Given the description of an element on the screen output the (x, y) to click on. 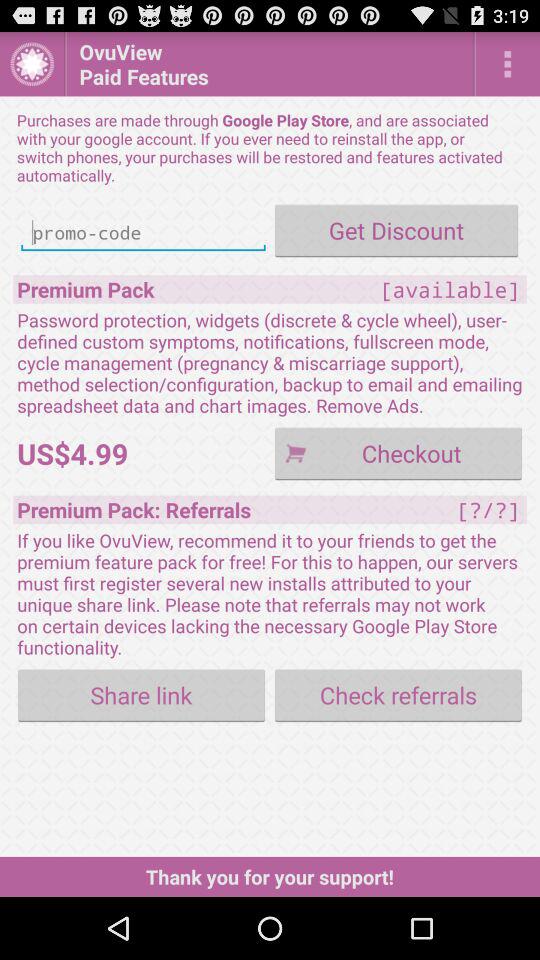
swipe until get discount item (396, 229)
